Given the description of an element on the screen output the (x, y) to click on. 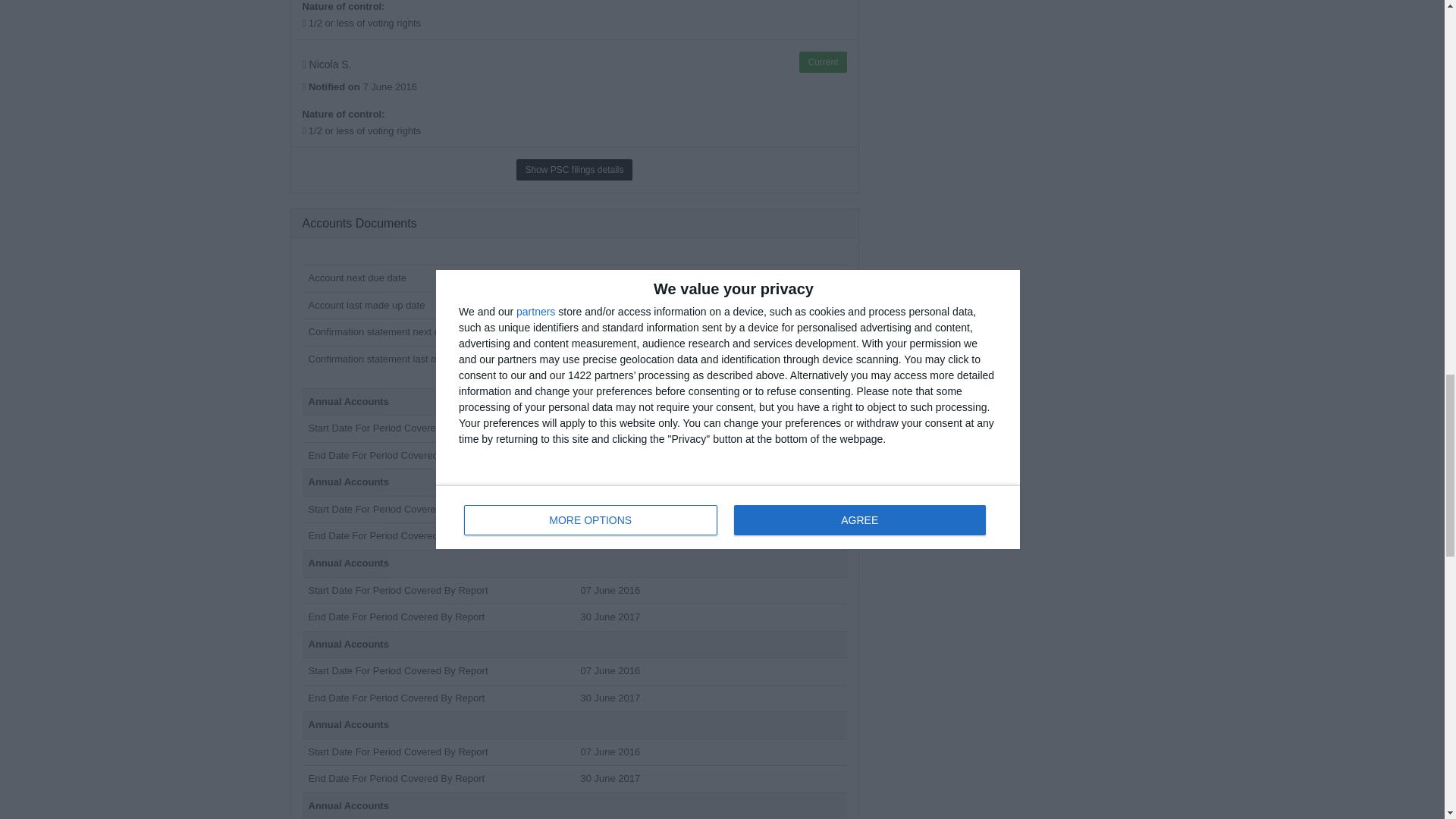
Current (822, 61)
Show PSC filings details (573, 169)
